Given the description of an element on the screen output the (x, y) to click on. 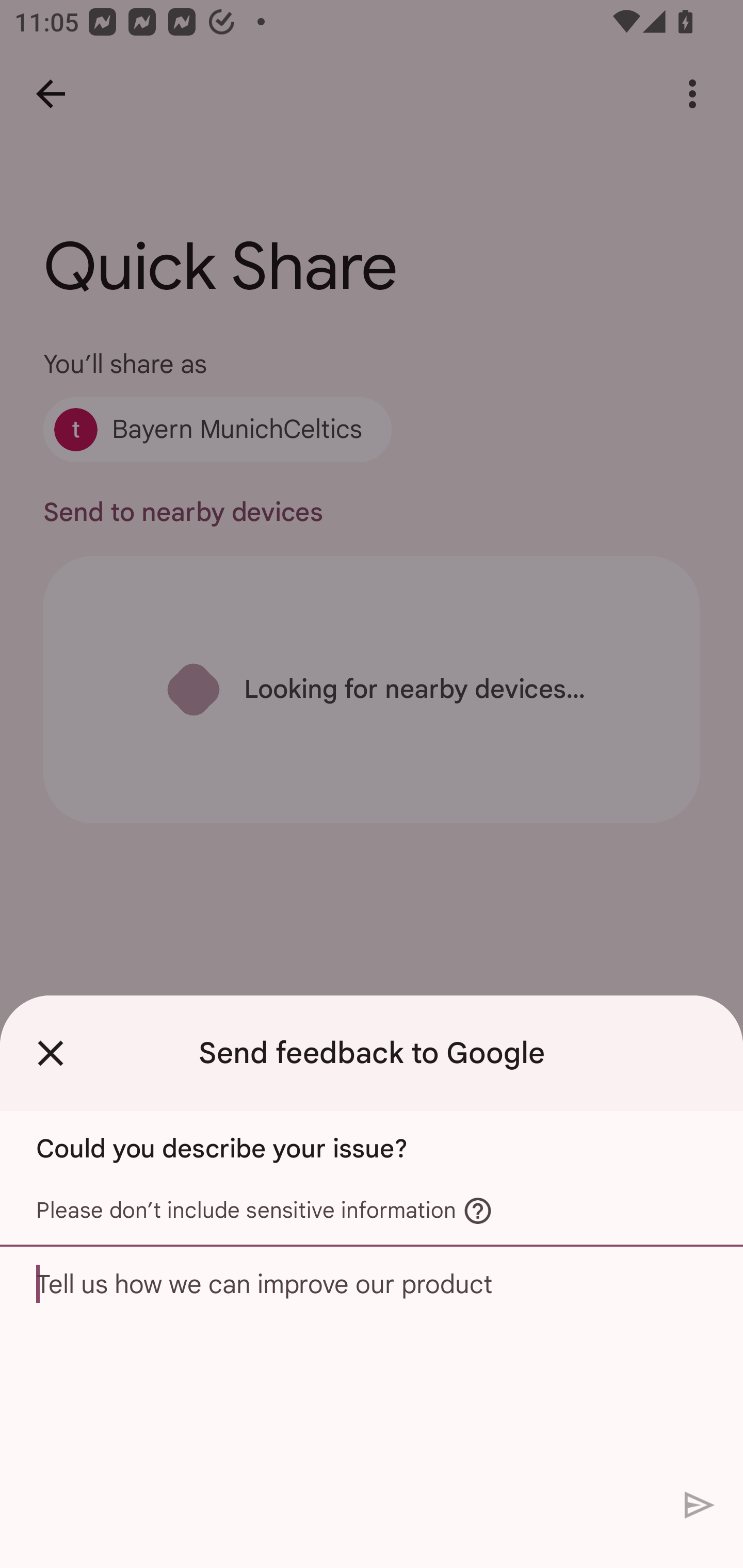
Close Feedback (50, 1052)
Tell us how we can improve our product (371, 1362)
Submit the feedback that you entered (699, 1504)
